Given the description of an element on the screen output the (x, y) to click on. 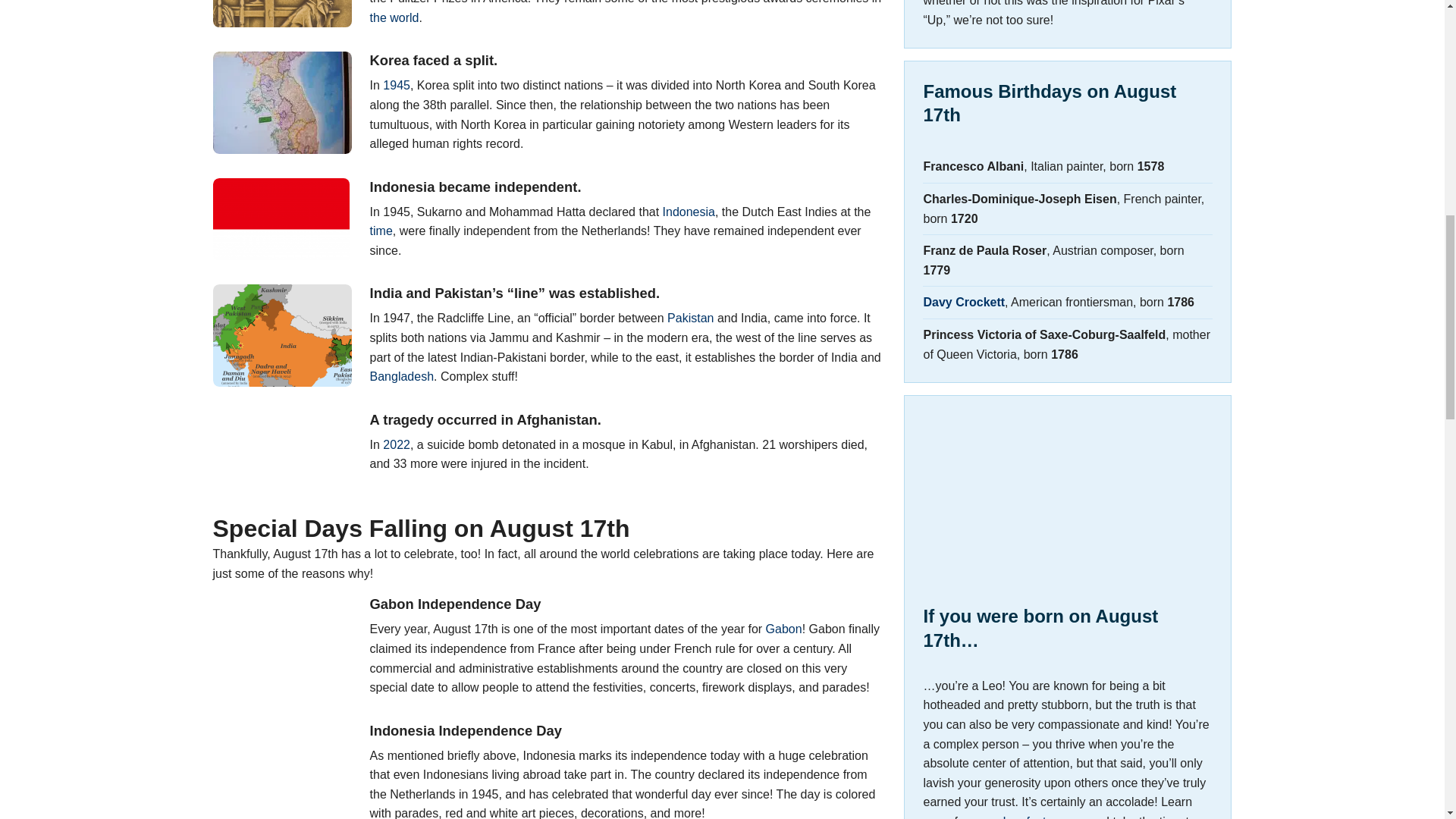
Indonesia (688, 211)
the world (394, 17)
1945 (396, 84)
